Given the description of an element on the screen output the (x, y) to click on. 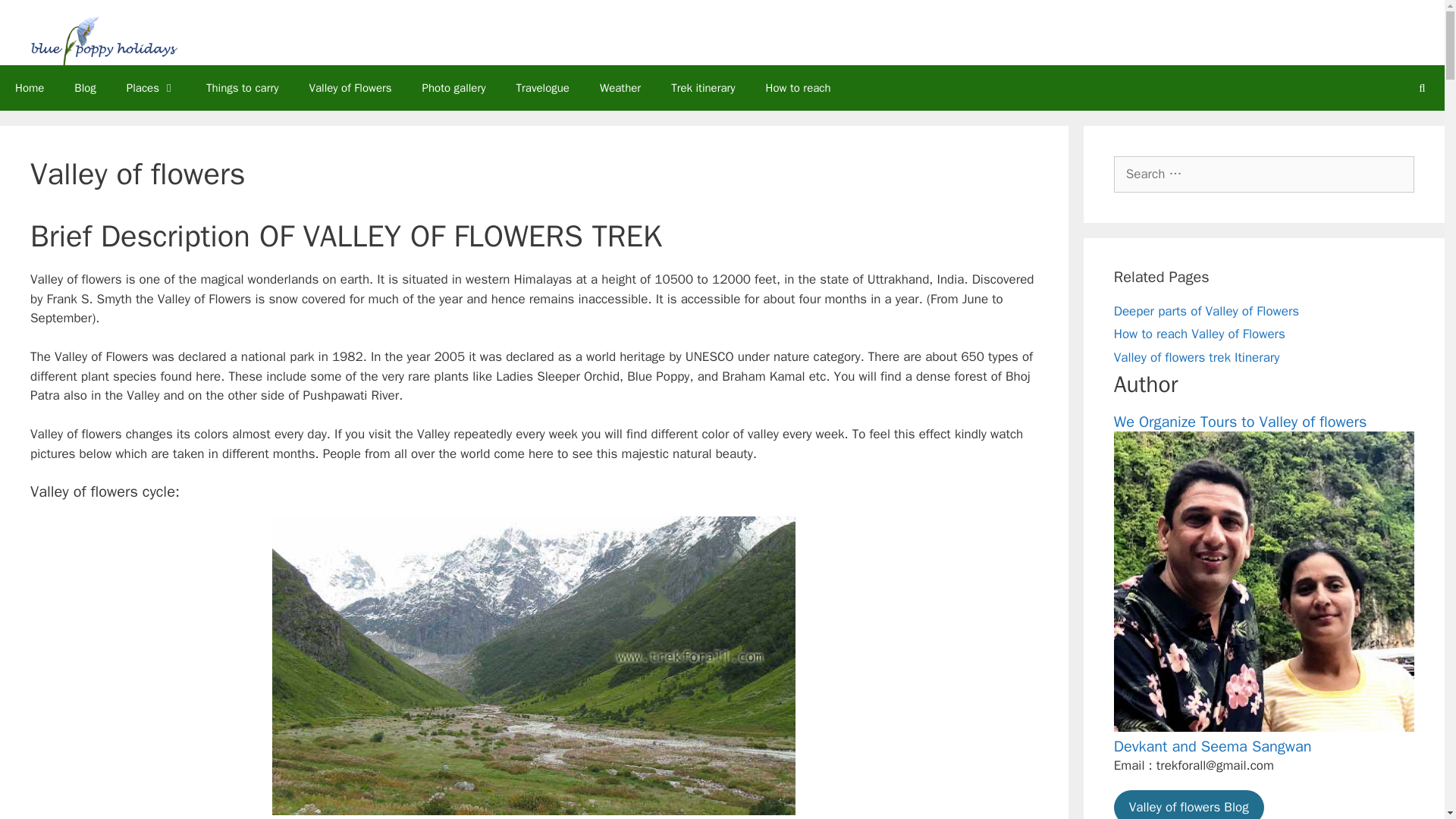
Places (151, 87)
Valley of flowers (103, 40)
Trek itinerary (702, 87)
Valley of flowers (103, 38)
Travelogue (541, 87)
How to reach (798, 87)
Weather (620, 87)
Valley of Flowers (350, 87)
Home (29, 87)
Search for: (1263, 174)
